Given the description of an element on the screen output the (x, y) to click on. 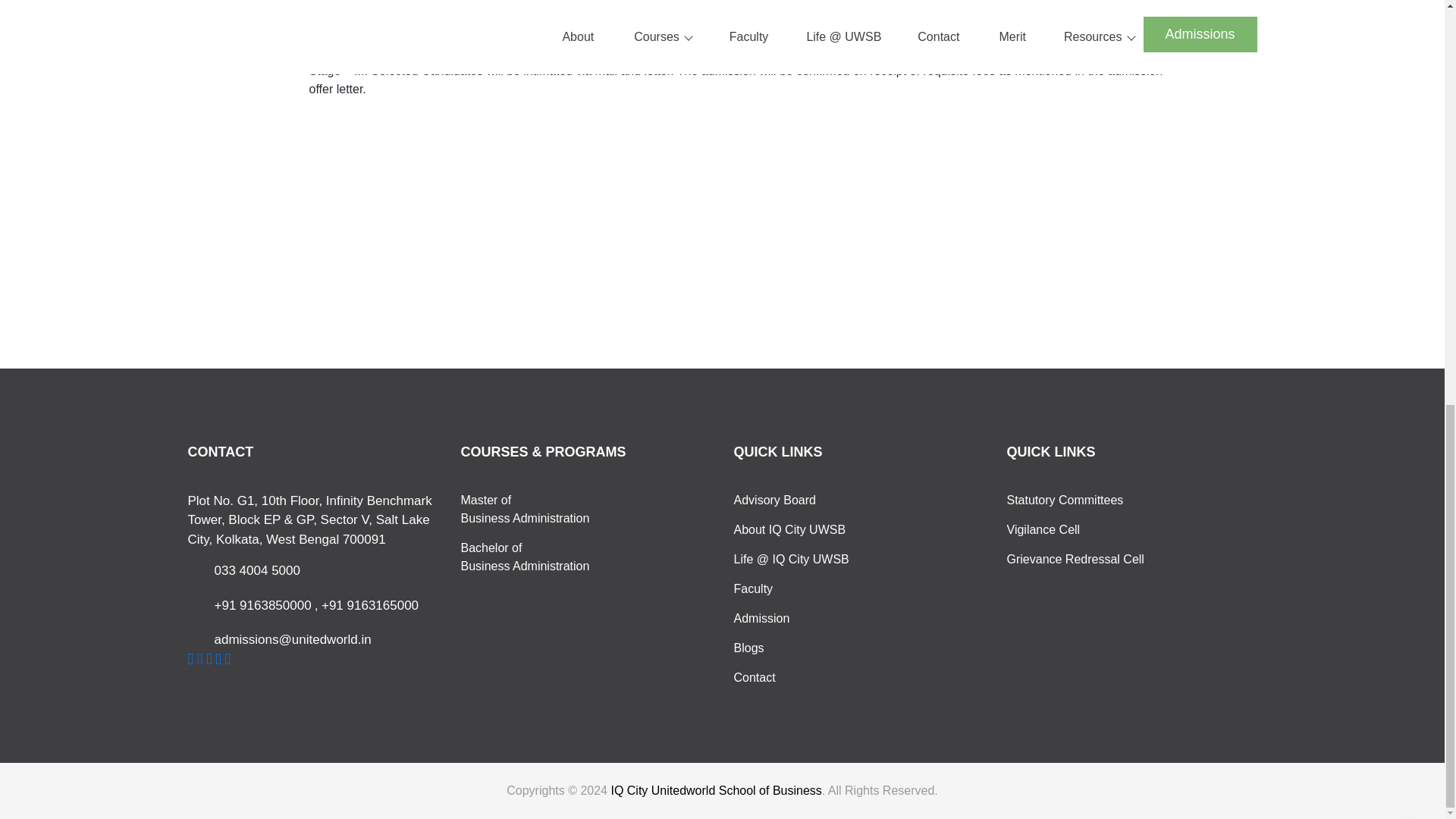
Instagram (199, 658)
033 4004 5000 (256, 570)
YouTube (218, 658)
Statutory Committees (536, 509)
Faculty (1082, 500)
Admission (536, 556)
Vigilance Cell (809, 588)
Advisory Board (809, 618)
About IQ City UWSB (1082, 529)
Contact (809, 500)
Grievance Redressal Cell (809, 529)
LinkedIn (809, 678)
IQ City Unitedworld School of Business (1082, 559)
